Given the description of an element on the screen output the (x, y) to click on. 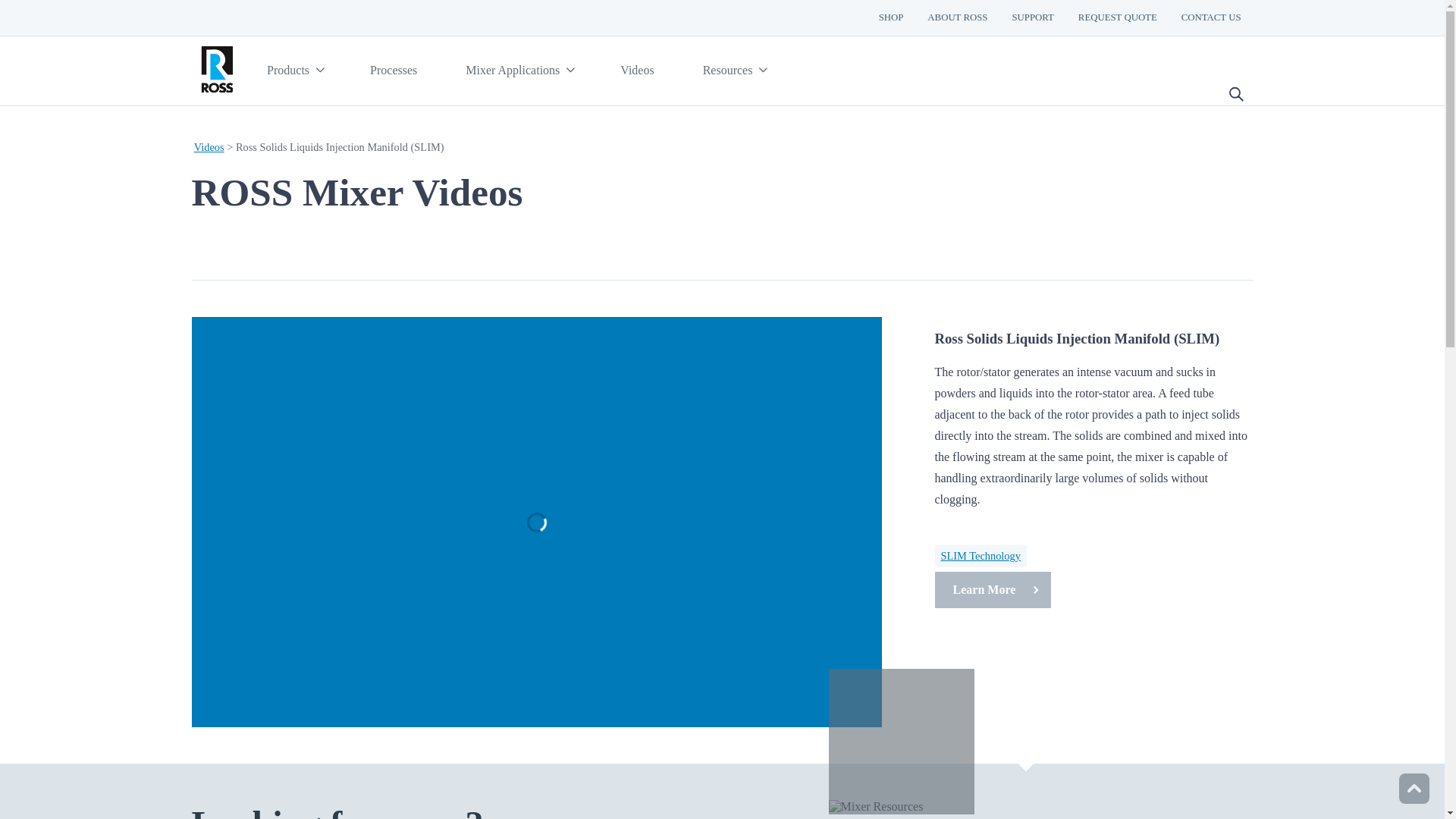
SUPPORT (1031, 18)
Resources (733, 70)
Processes (393, 70)
CONTACT US (1211, 18)
ABOUT ROSS (956, 18)
Videos (636, 70)
REQUEST QUOTE (1117, 18)
SHOP (890, 18)
Mixer Applications (518, 70)
Products (294, 70)
